Given the description of an element on the screen output the (x, y) to click on. 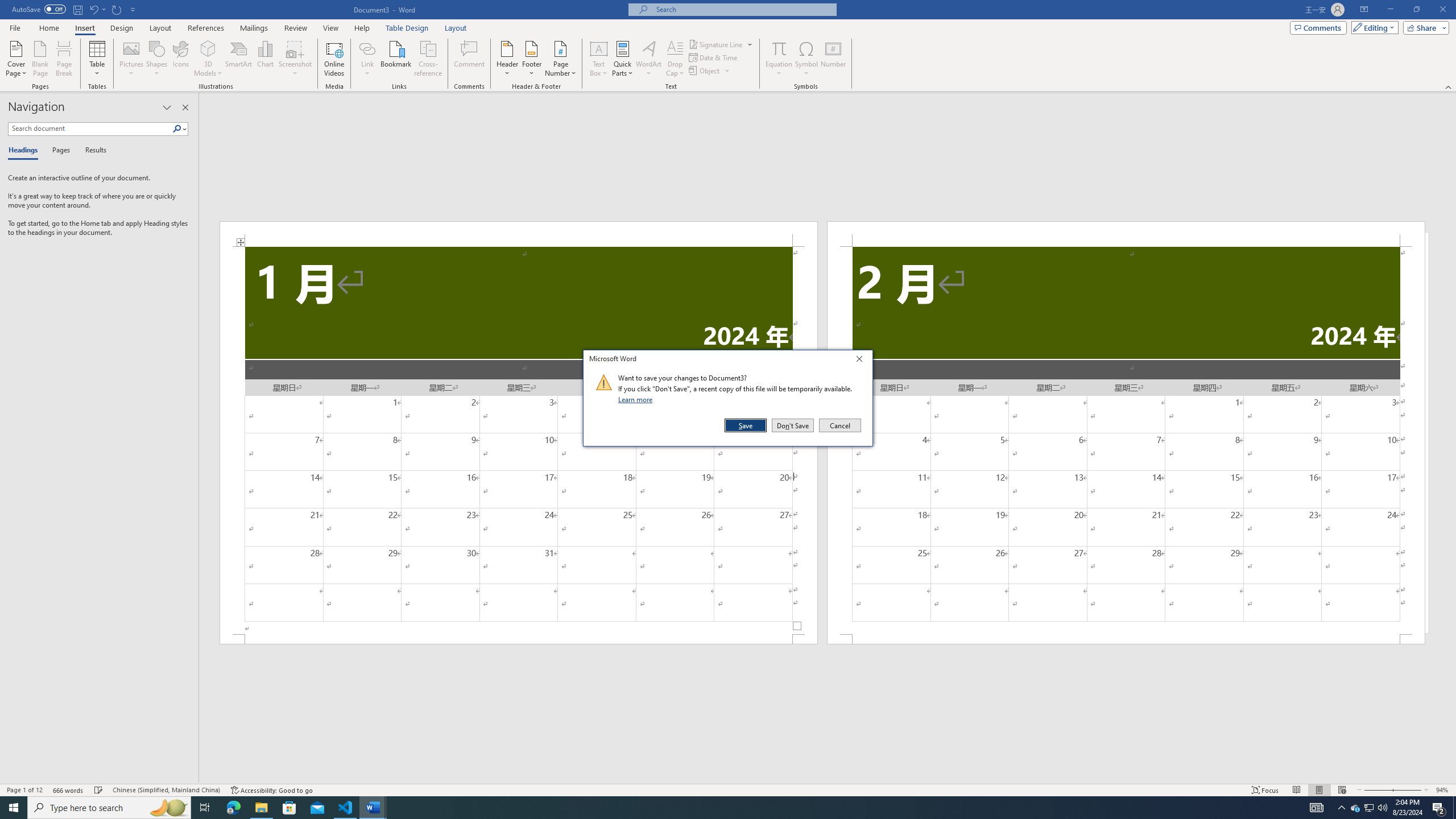
Drop Cap (674, 58)
Symbol (806, 58)
Quick Parts (622, 58)
Icons (180, 58)
Object... (709, 69)
Signature Line (721, 44)
Page Number (560, 58)
